Given the description of an element on the screen output the (x, y) to click on. 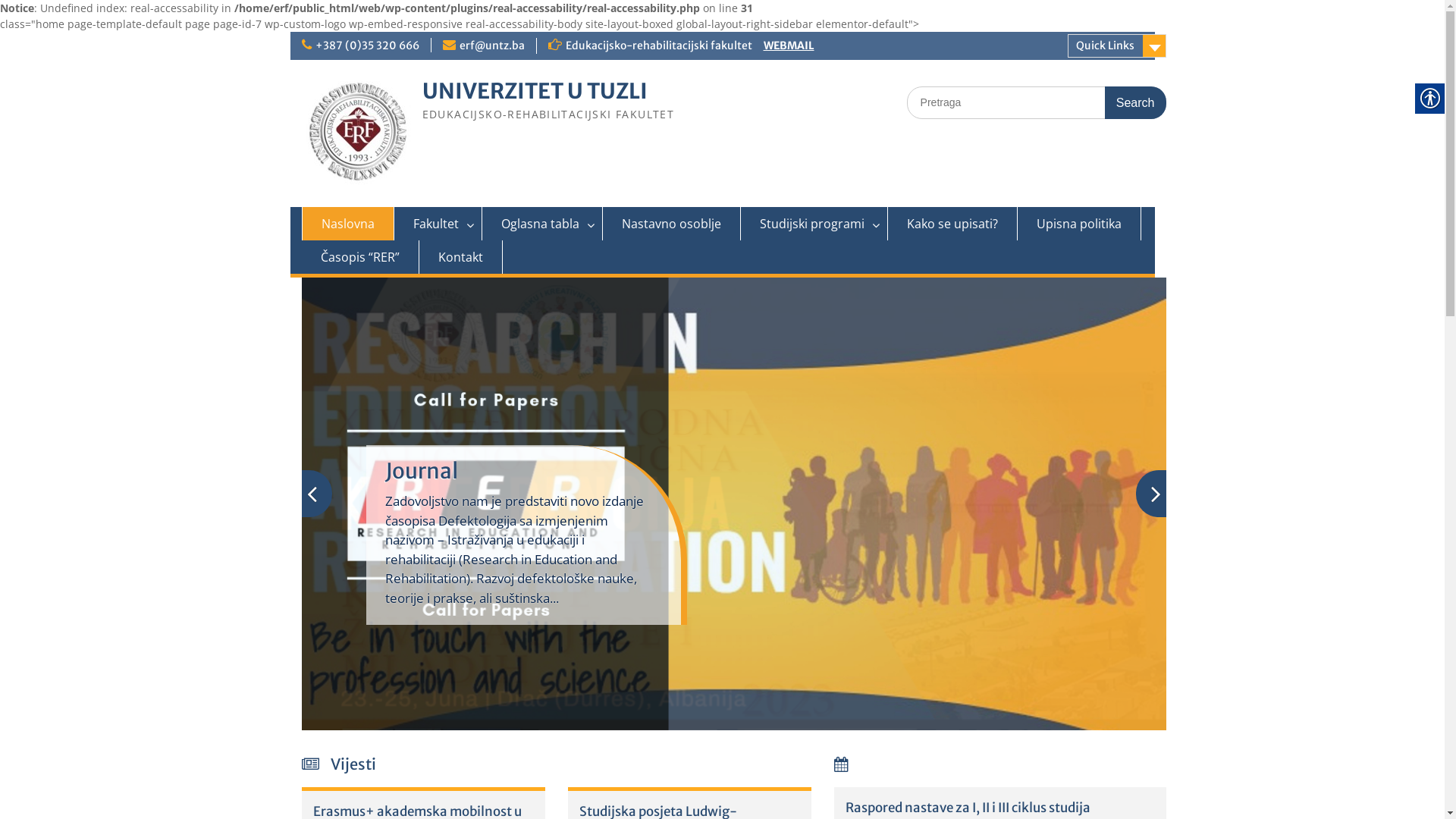
Nastavno osoblje Element type: text (671, 223)
Search Element type: text (1135, 102)
Oglasna tabla Element type: text (542, 223)
Quick Links Element type: text (1116, 45)
Fakultet Element type: text (438, 223)
erf@untz.ba Element type: text (491, 45)
Kako se upisati? Element type: text (951, 223)
Upisna politika Element type: text (1079, 223)
UNIVERZITET U TUZLI Element type: text (533, 90)
WEBMAIL Element type: text (787, 45)
Skip to content Element type: text (289, 31)
Studijski programi Element type: text (813, 223)
Naslovna Element type: text (347, 223)
Search for: Element type: hover (1036, 102)
+387 (0)35 320 666 Element type: text (367, 45)
Kontakt Element type: text (460, 256)
